Given the description of an element on the screen output the (x, y) to click on. 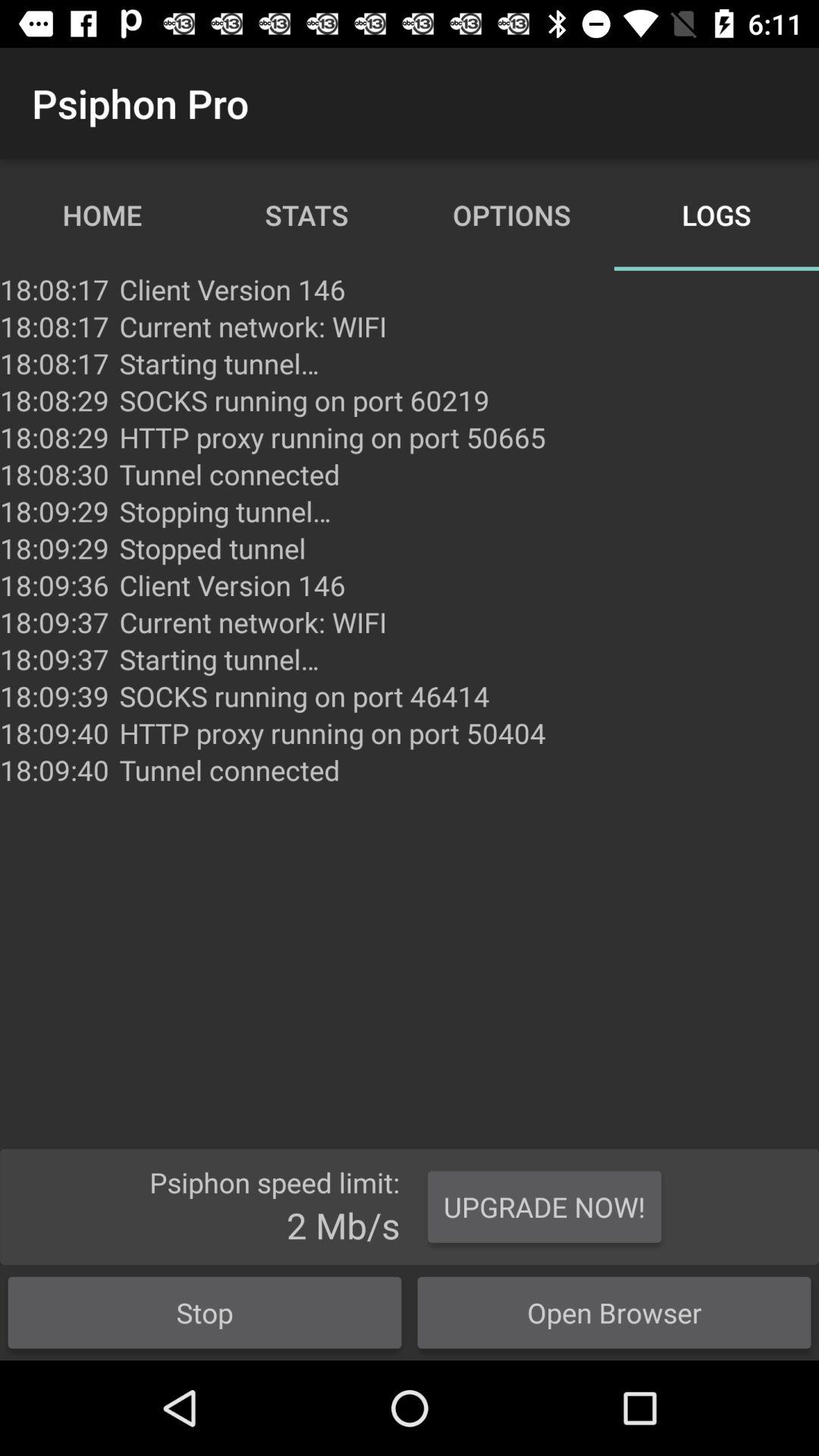
select item next to the stop button (544, 1206)
